Given the description of an element on the screen output the (x, y) to click on. 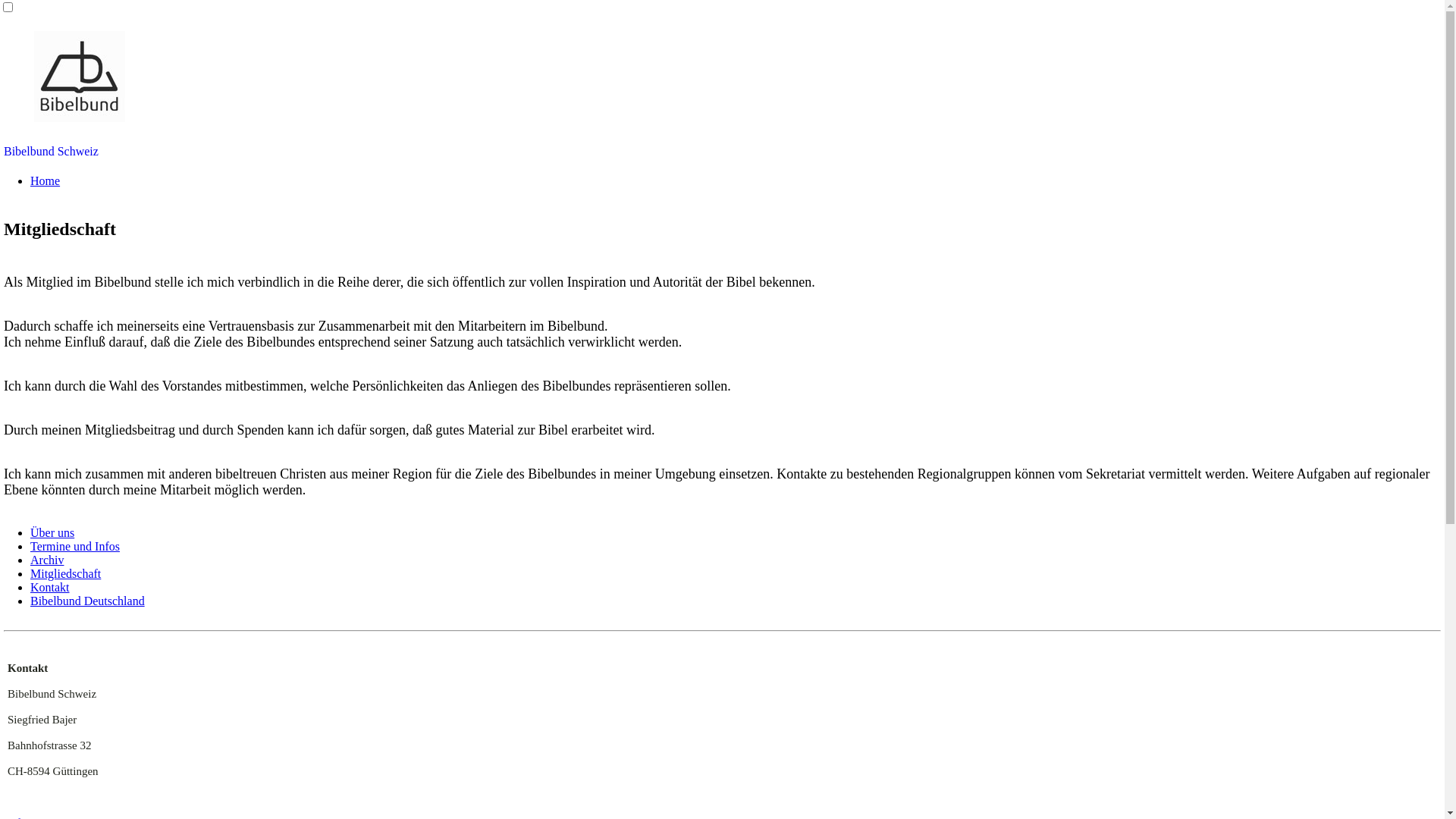
Bibelbund Deutschland Element type: text (87, 600)
Termine und Infos Element type: text (74, 545)
Bibelbund Schweiz Element type: text (50, 150)
Archiv Element type: text (46, 559)
Kontakt Element type: text (49, 586)
Mitgliedschaft Element type: text (65, 573)
Home Element type: text (44, 180)
